Given the description of an element on the screen output the (x, y) to click on. 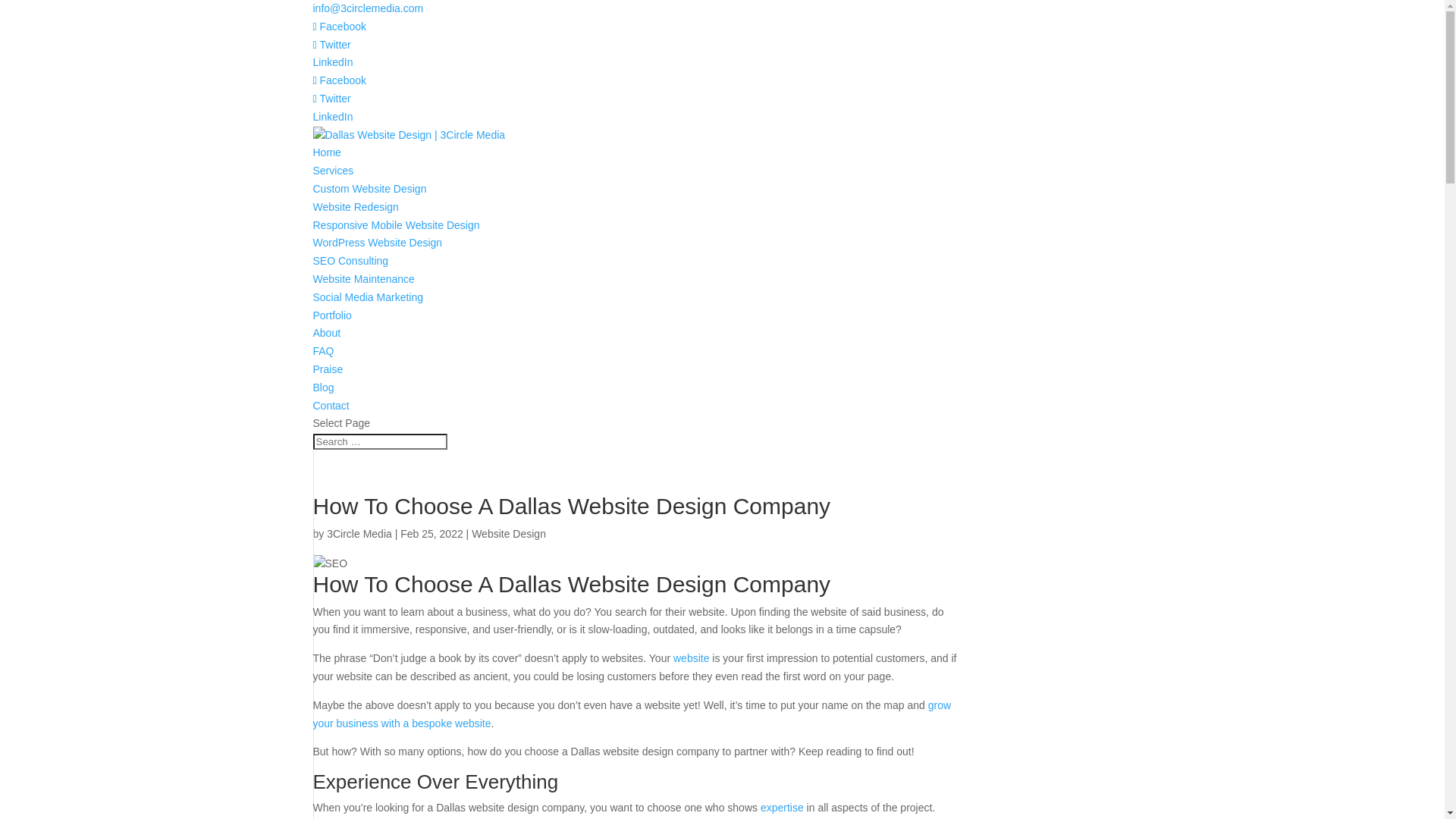
expertise Element type: text (781, 807)
Contact Element type: text (330, 405)
info@3circlemedia.com Element type: text (367, 8)
Twitter Element type: text (331, 98)
Portfolio Element type: text (331, 315)
Website Redesign Element type: text (355, 206)
Facebook Element type: text (339, 26)
Home Element type: text (326, 152)
LinkedIn Element type: text (332, 116)
3Circle Media Element type: text (359, 533)
WordPress Website Design Element type: text (377, 242)
About Element type: text (326, 332)
grow your business with a bespoke website Element type: text (631, 714)
SEO Consulting Element type: text (350, 260)
Twitter Element type: text (331, 44)
Website Maintenance Element type: text (363, 279)
Praise Element type: text (327, 369)
Facebook Element type: text (339, 80)
Responsive Mobile Website Design Element type: text (395, 225)
Search for: Element type: hover (379, 441)
LinkedIn Element type: text (332, 62)
Social Media Marketing Element type: text (367, 297)
Blog Element type: text (322, 387)
Custom Website Design Element type: text (369, 188)
Services Element type: text (332, 170)
Website Design Element type: text (508, 533)
FAQ Element type: text (322, 351)
website Element type: text (691, 658)
